Given the description of an element on the screen output the (x, y) to click on. 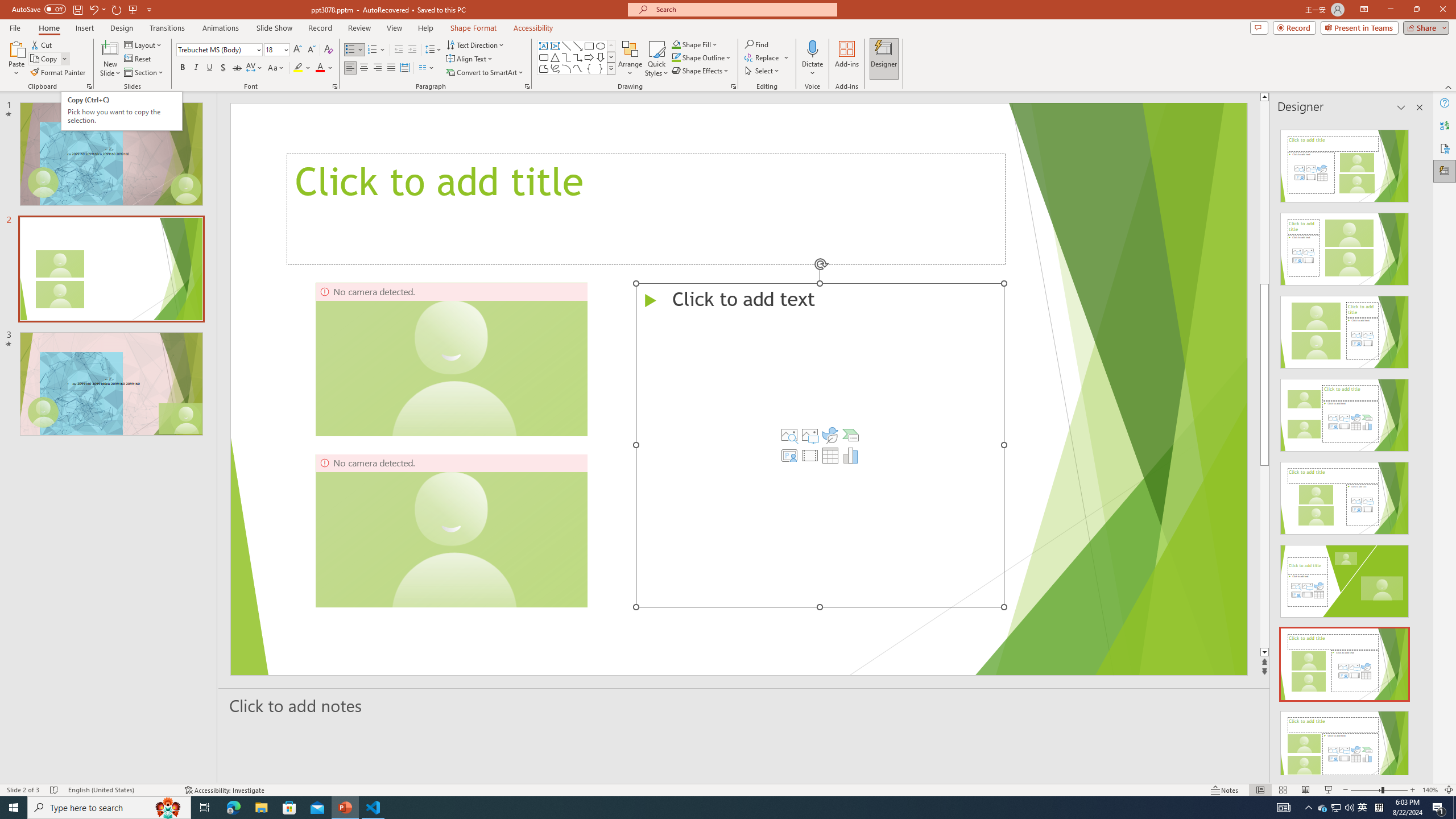
Stock Images (788, 434)
Zoom 140% (1430, 790)
Pictures (809, 434)
Insert a SmartArt Graphic (850, 434)
